Given the description of an element on the screen output the (x, y) to click on. 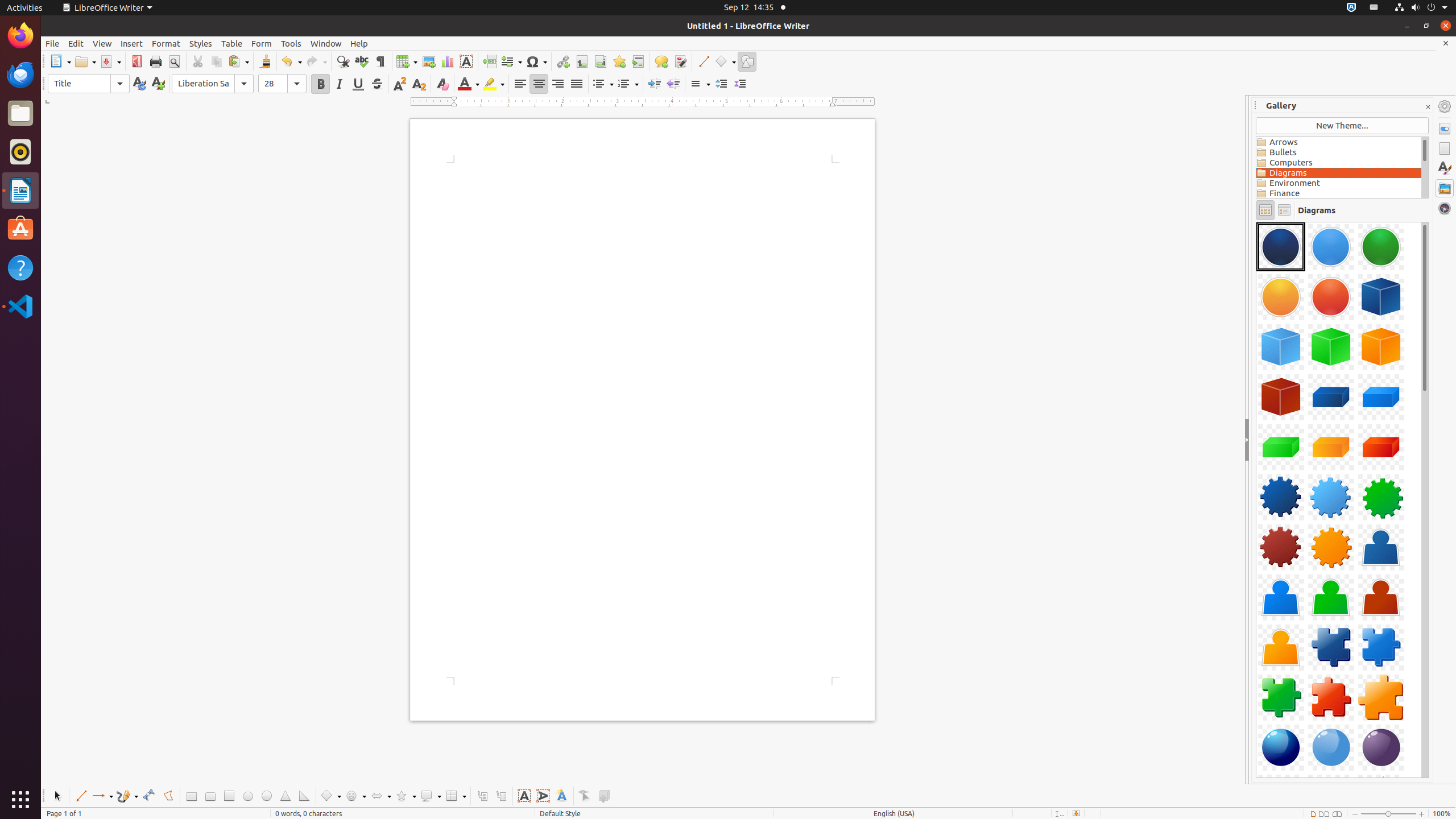
Undo Element type: push-button (290, 61)
Visual Studio Code Element type: push-button (20, 306)
Component-Gear03-Green Element type: list-item (1380, 496)
Files Element type: push-button (20, 113)
Component-Gear05-Orange Element type: list-item (1330, 546)
